Given the description of an element on the screen output the (x, y) to click on. 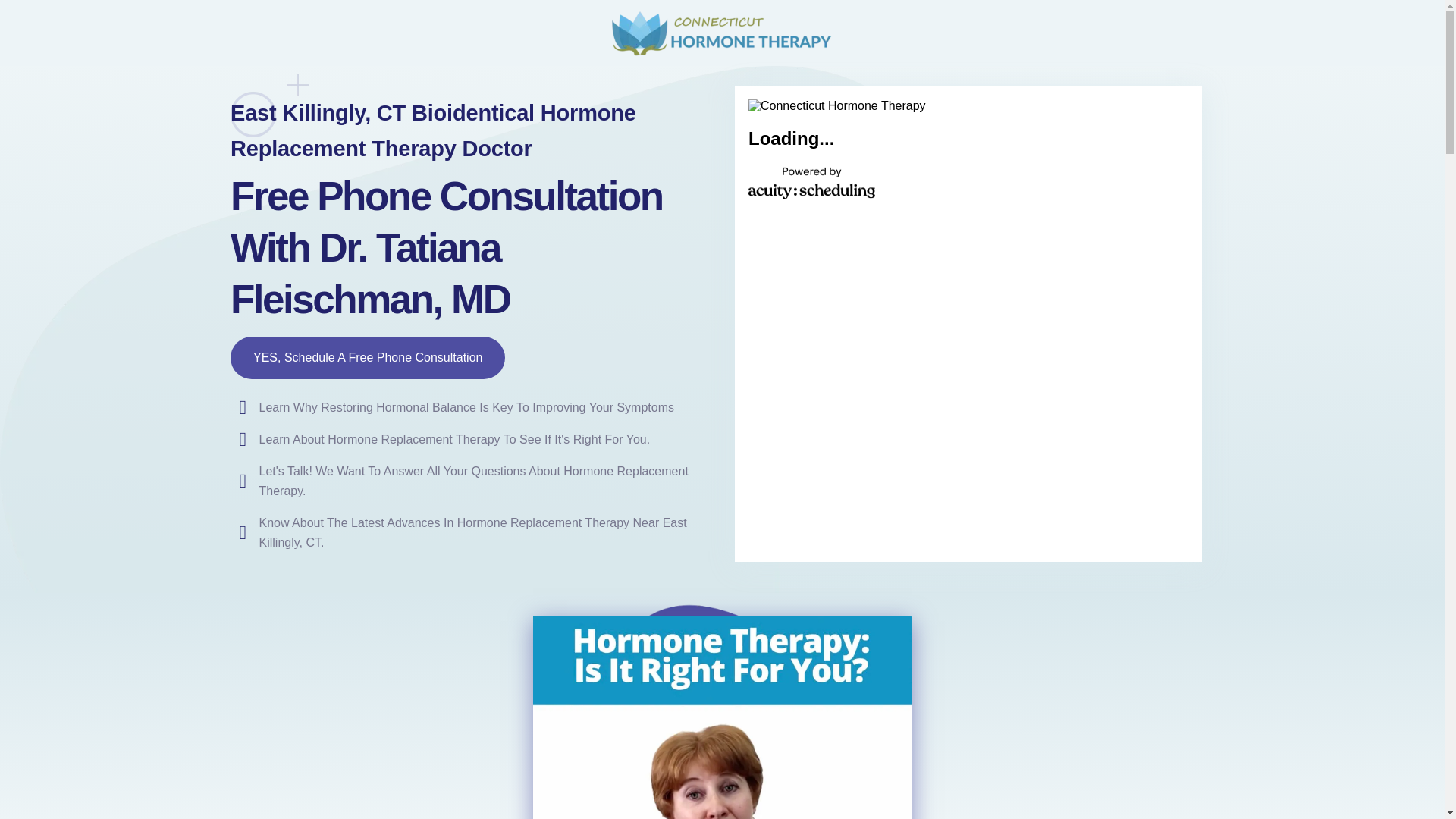
YES, Schedule A Free Phone Consultation (367, 357)
